Given the description of an element on the screen output the (x, y) to click on. 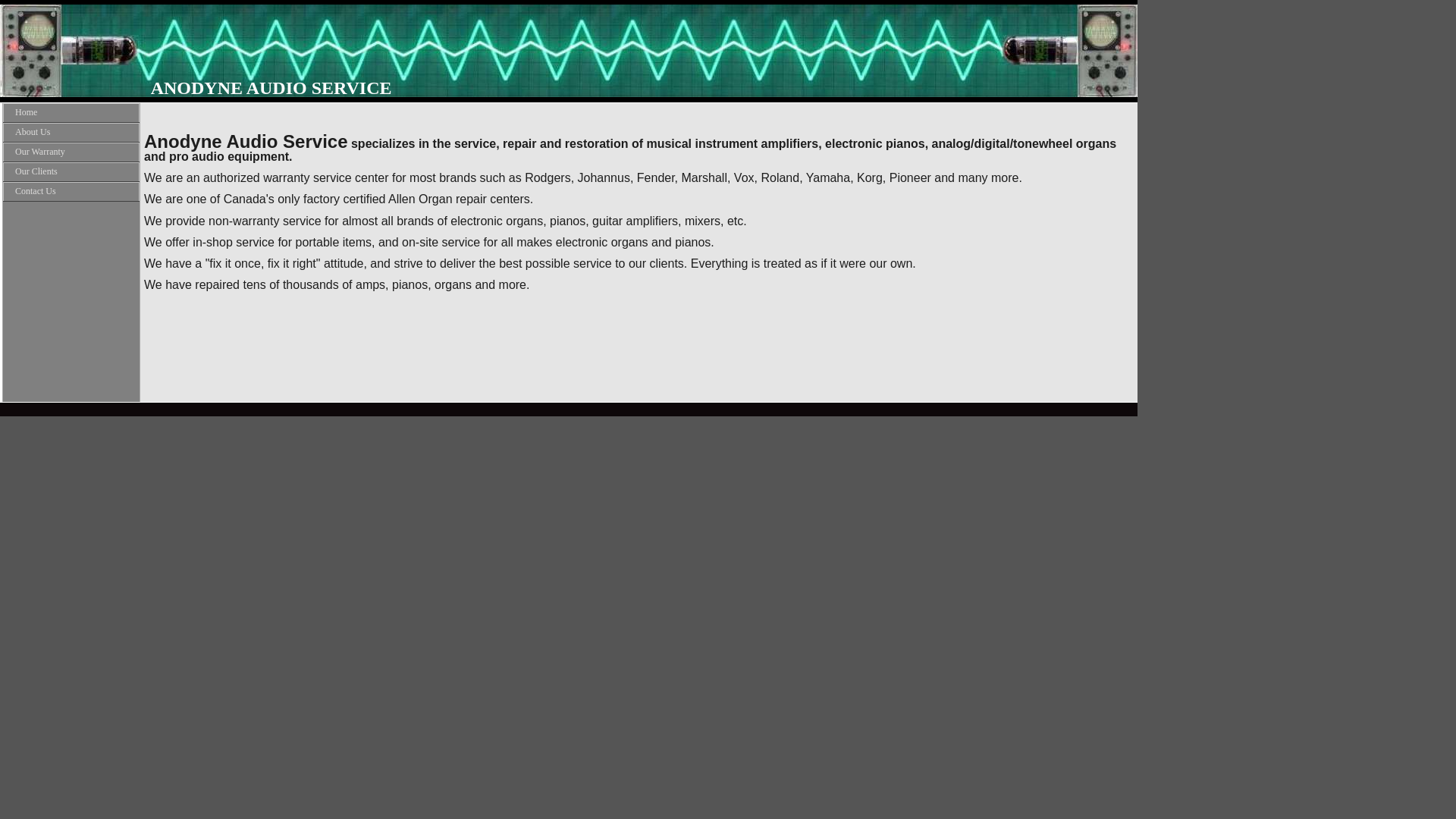
Home Element type: text (71, 112)
About Us Element type: text (71, 131)
Our Warranty Element type: text (71, 151)
Contact Us Element type: text (71, 191)
Our Clients Element type: text (71, 171)
